Given the description of an element on the screen output the (x, y) to click on. 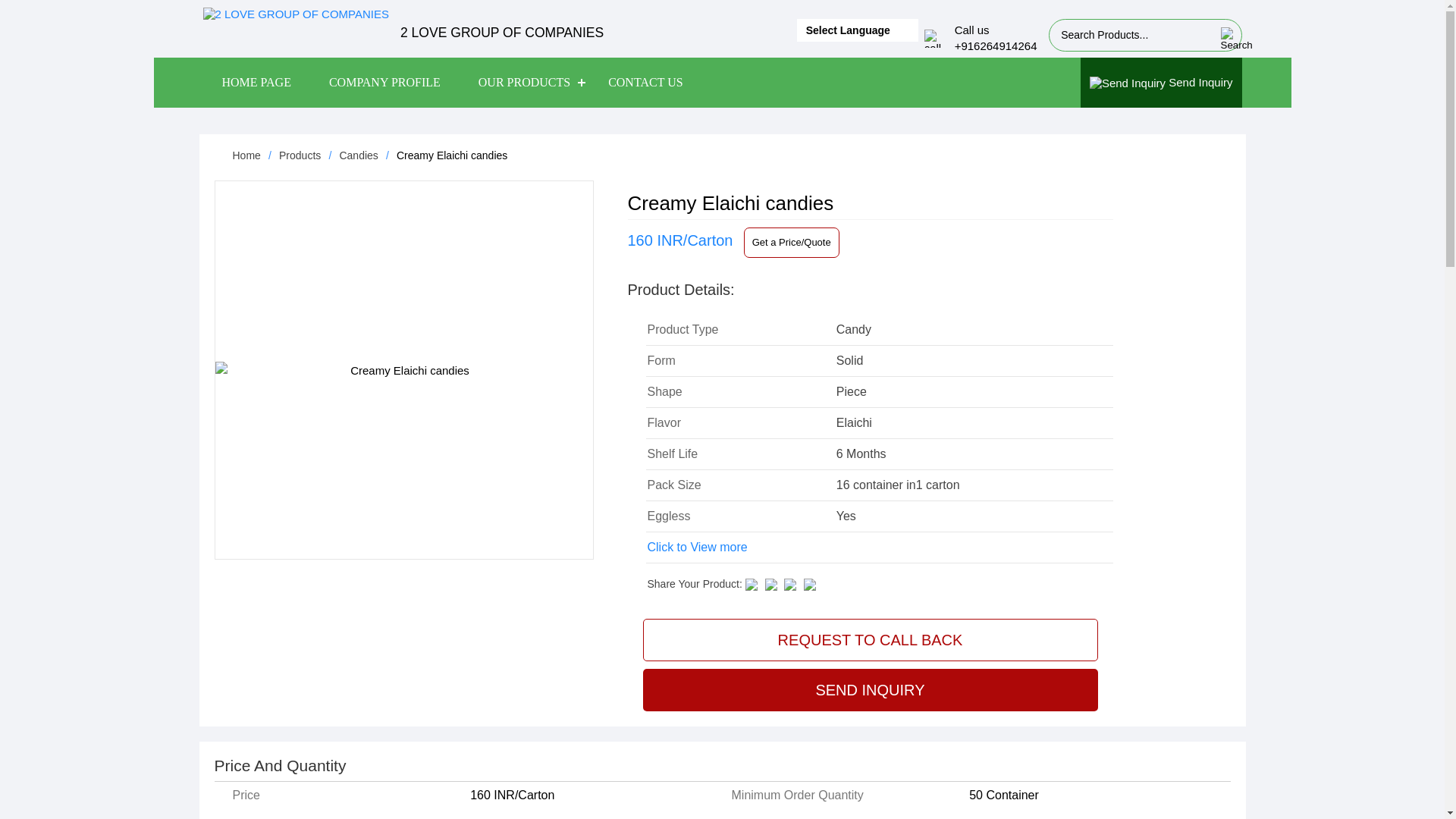
Click to View more Element type: text (697, 547)
Search Element type: hover (1226, 38)
OUR PRODUCTS Element type: text (524, 82)
REQUEST TO CALL BACK Element type: text (870, 639)
Send Inquiry Element type: text (1161, 82)
HOME PAGE Element type: text (256, 82)
Home Element type: text (246, 155)
CONTACT US Element type: text (645, 82)
COMPANY PROFILE Element type: text (384, 82)
Select Language Element type: text (857, 29)
SEND INQUIRY Element type: text (870, 689)
Candies Element type: text (357, 155)
Products Element type: text (299, 155)
Get a Price/Quote Element type: text (791, 242)
